Given the description of an element on the screen output the (x, y) to click on. 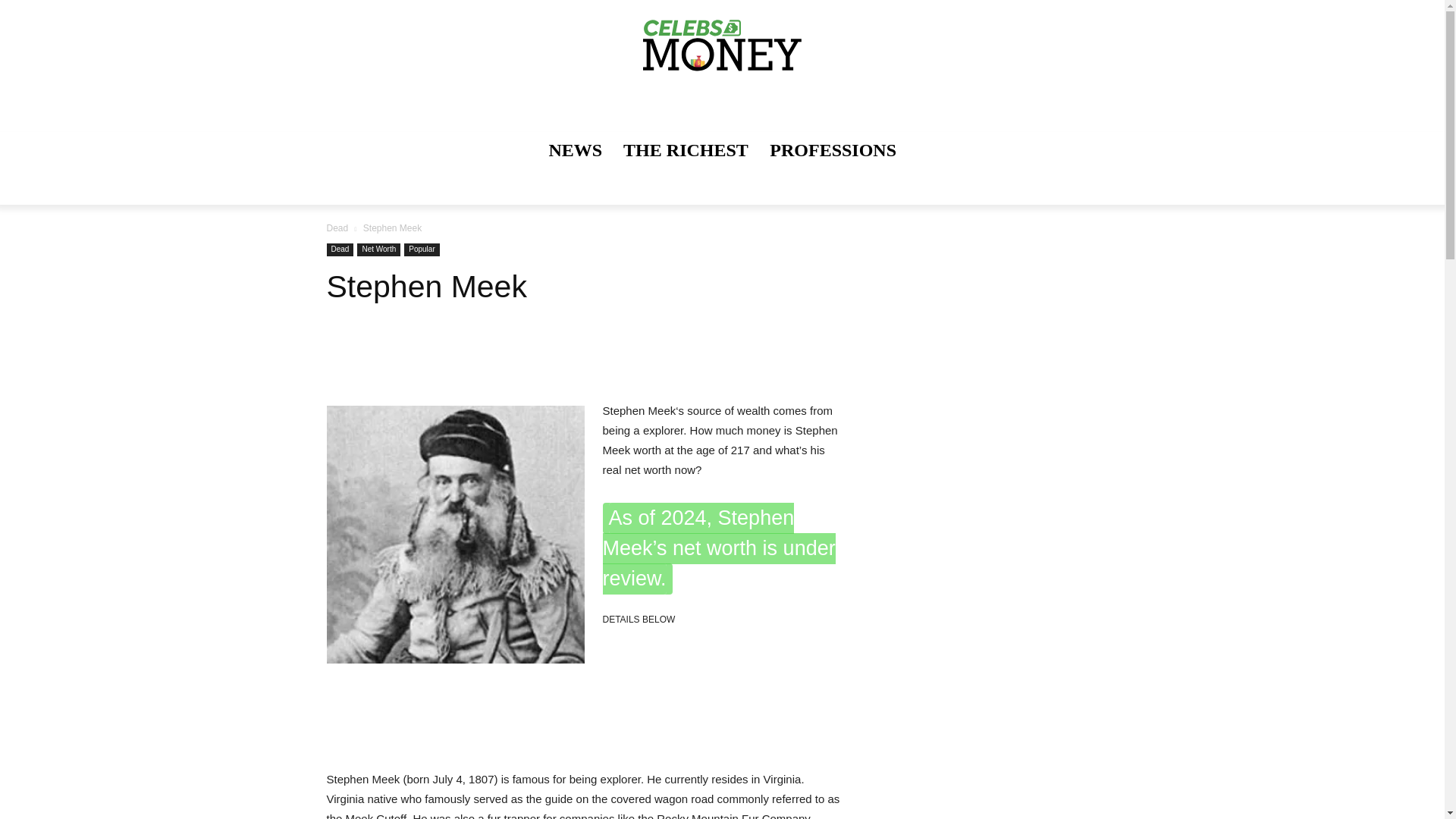
Celebrity Net Worth (722, 47)
Advertisement (601, 702)
NEWS (574, 149)
Dead (336, 227)
Dead (339, 249)
PROFESSIONS (832, 149)
Net Worth (378, 249)
Popular (421, 249)
View all posts in Dead (336, 227)
Advertisement (583, 361)
THE RICHEST (685, 149)
Richest Celebrities In The World (685, 149)
